Given the description of an element on the screen output the (x, y) to click on. 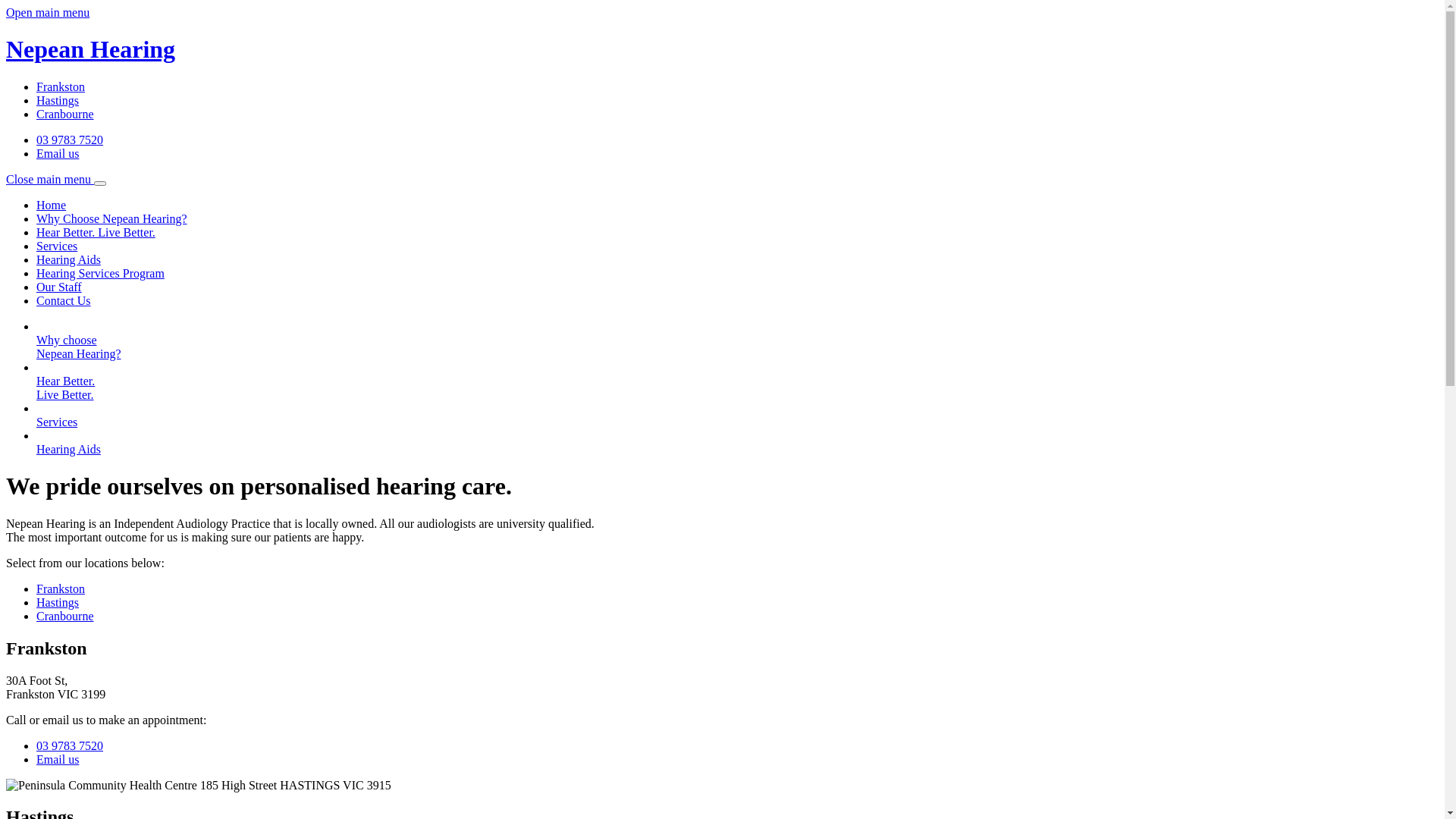
Frankston Element type: text (60, 588)
Cranbourne Element type: text (65, 615)
Email us Element type: text (57, 759)
Hastings Element type: text (57, 100)
Our Staff Element type: text (58, 286)
Services Element type: text (737, 428)
Hastings Element type: text (57, 602)
Hear Better. Live Better. Element type: text (95, 231)
Why choose
Nepean Hearing? Element type: text (737, 353)
Cranbourne Element type: text (65, 113)
Services Element type: text (56, 245)
03 9783 7520 Element type: text (69, 139)
Why Choose Nepean Hearing? Element type: text (111, 218)
Email us Element type: text (57, 153)
Contact Us Element type: text (63, 300)
Home Element type: text (50, 204)
Hearing Aids Element type: text (737, 456)
03 9783 7520 Element type: text (69, 745)
Open main menu Element type: text (47, 12)
Frankston Element type: text (60, 86)
Close main menu Element type: text (56, 178)
Hearing Aids Element type: text (68, 259)
Hearing Services Program Element type: text (100, 272)
Hear Better.
Live Better. Element type: text (737, 394)
Nepean Hearing Element type: text (722, 64)
